Given the description of an element on the screen output the (x, y) to click on. 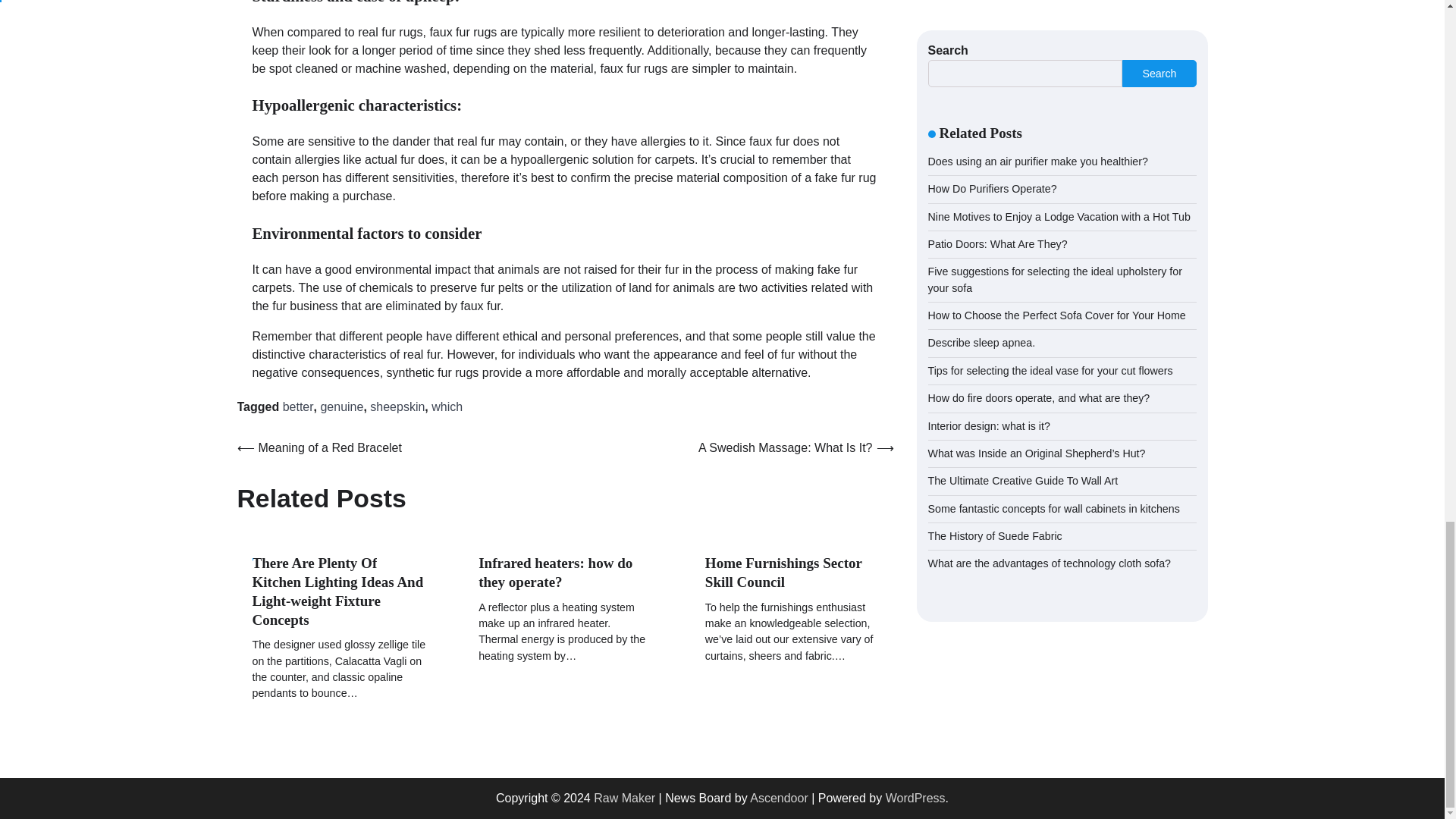
Infrared heaters: how do they operate? (555, 572)
Raw Maker (624, 797)
Home Furnishings Sector Skill Council (782, 572)
genuine (341, 406)
better (298, 406)
sheepskin (397, 406)
which (446, 406)
WordPress (914, 797)
Ascendoor (778, 797)
